Given the description of an element on the screen output the (x, y) to click on. 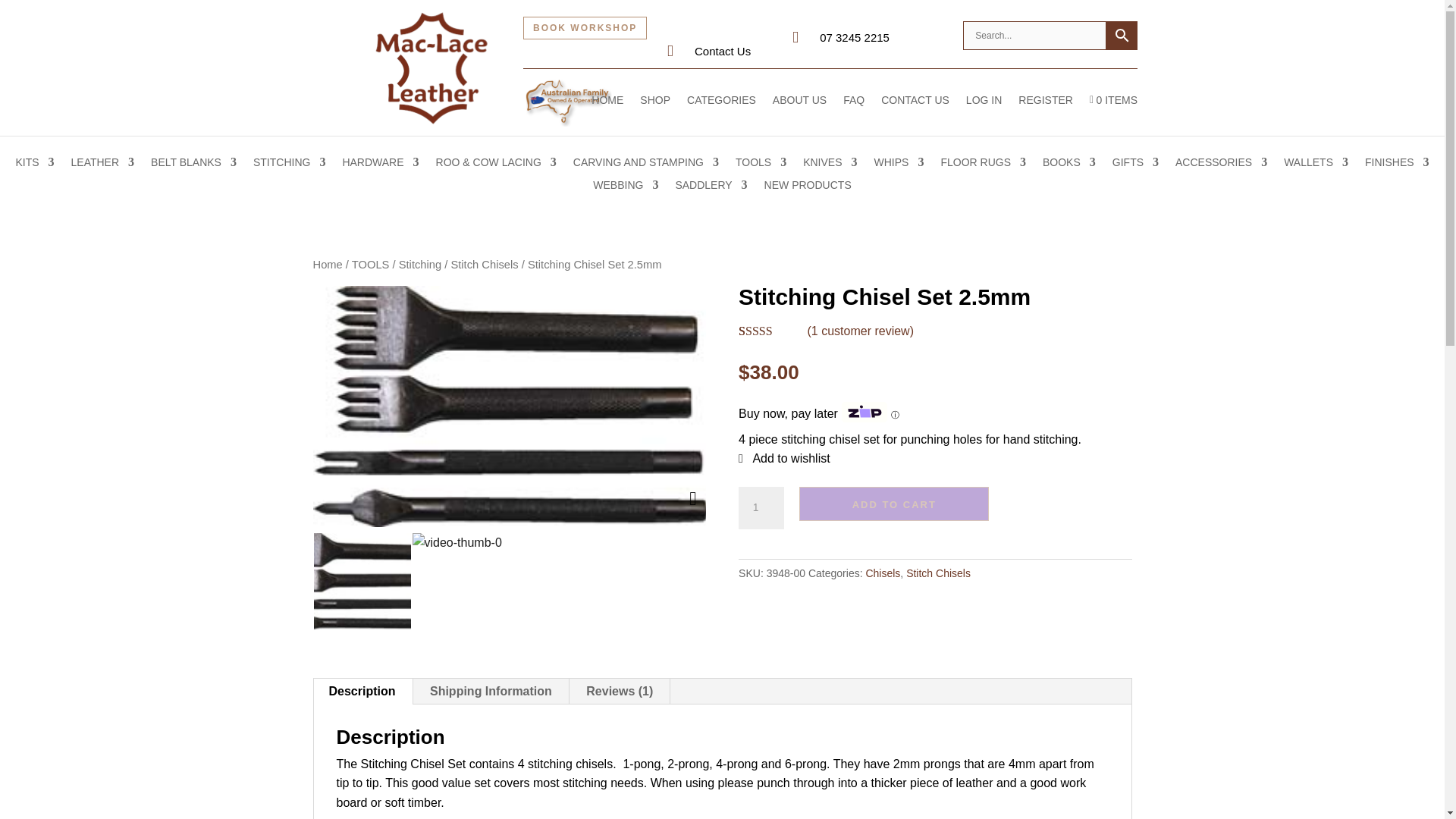
KITS (33, 165)
ABOUT US (800, 110)
Zip payment Information (892, 414)
HOME (607, 110)
07 3245 2215 (854, 37)
Contact Us (722, 51)
CONTACT US (914, 110)
MAC3948 (361, 581)
LOG IN (983, 110)
Start shopping (1113, 110)
REGISTER (1045, 110)
BOOK WORKSHOP (584, 27)
1 (761, 507)
video (459, 581)
SHOP (654, 110)
